Given the description of an element on the screen output the (x, y) to click on. 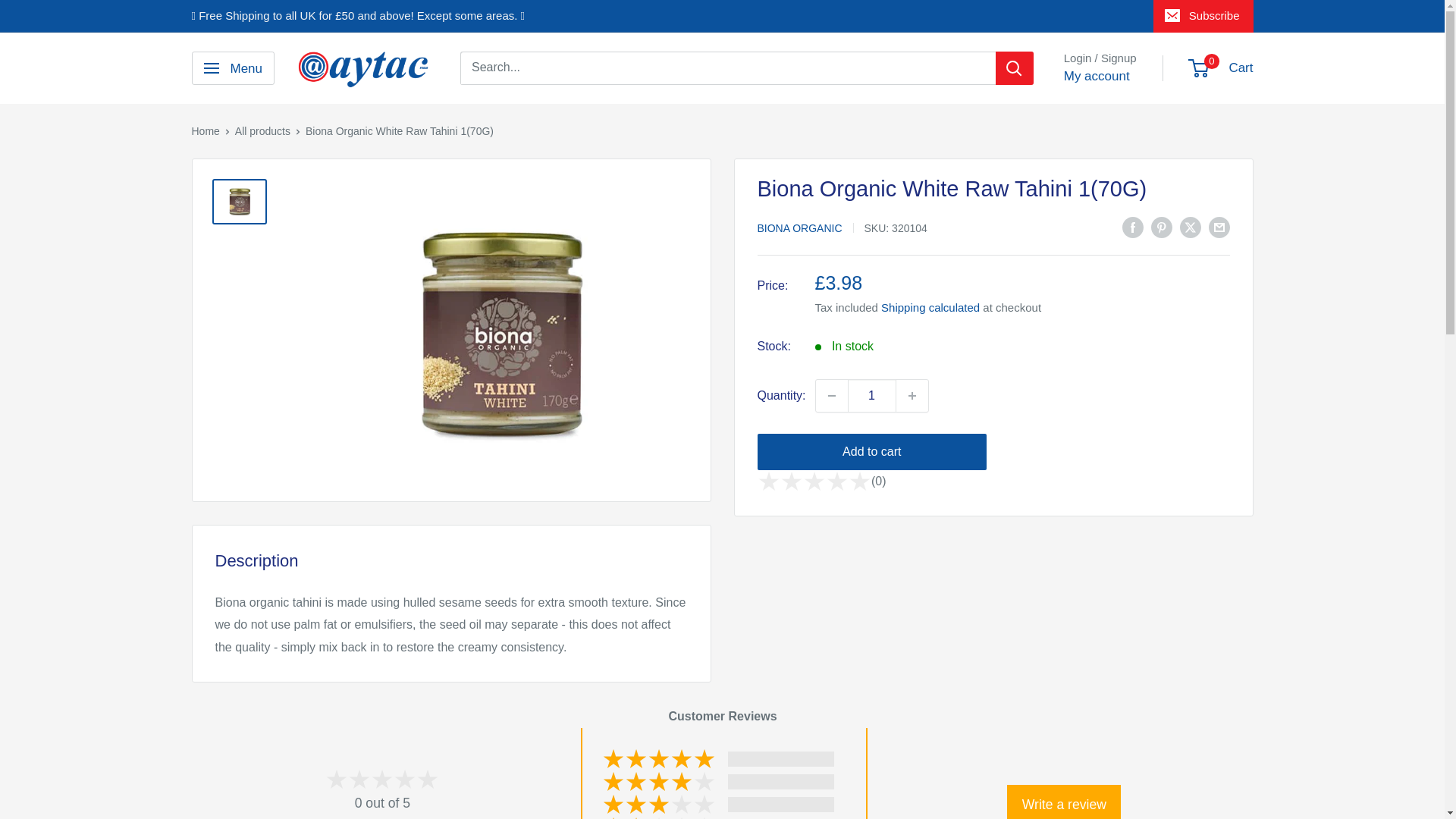
Decrease quantity by 1 (831, 395)
1 (871, 395)
Increase quantity by 1 (912, 395)
Subscribe (1203, 15)
